Given the description of an element on the screen output the (x, y) to click on. 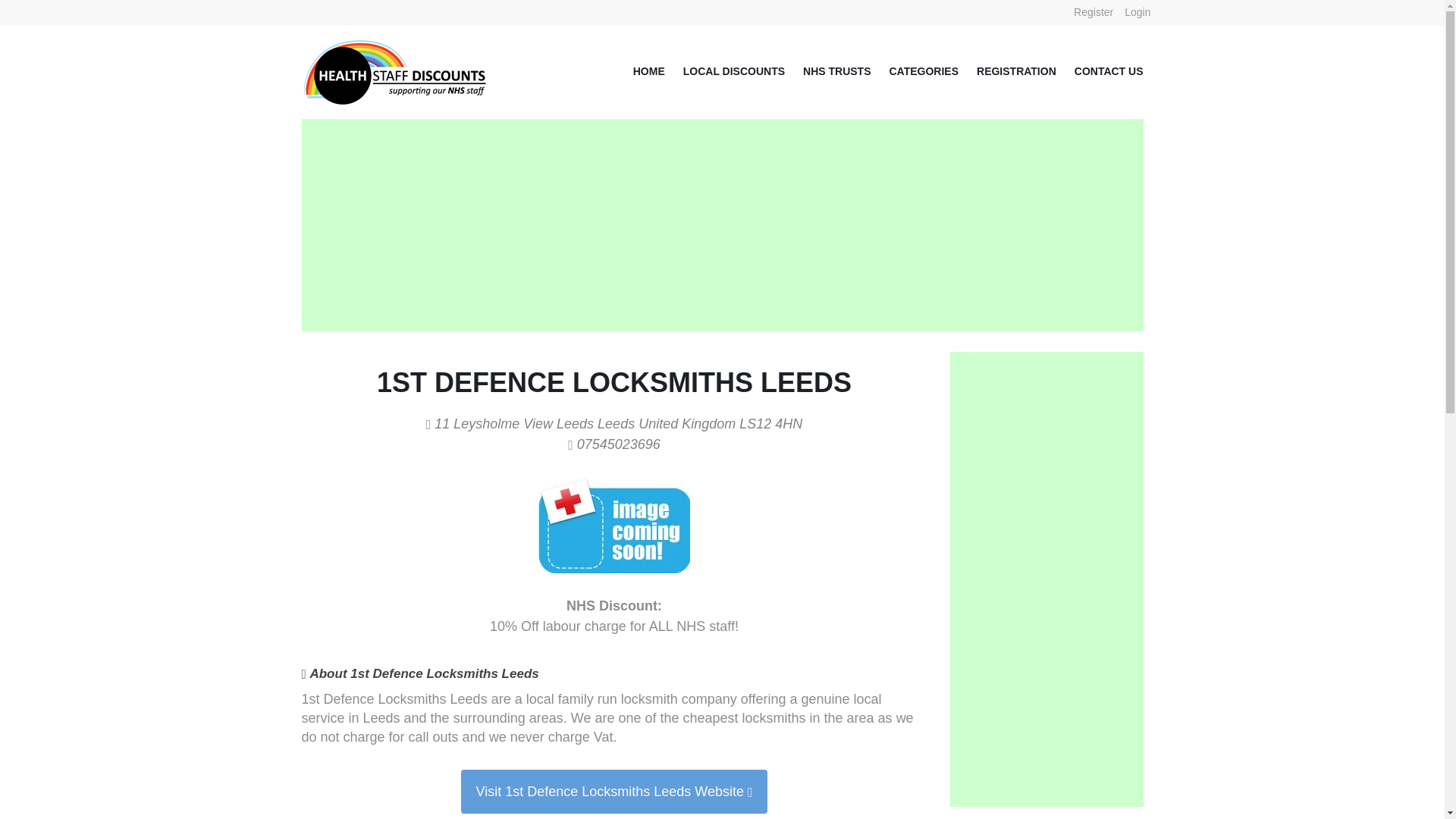
Health Staff Discounts (396, 48)
Login (1137, 12)
HOME (639, 71)
Register (1093, 12)
CATEGORIES (914, 71)
Register (1093, 12)
LOCAL DISCOUNTS (724, 71)
Login (1137, 12)
CONTACT US (1099, 71)
